Given the description of an element on the screen output the (x, y) to click on. 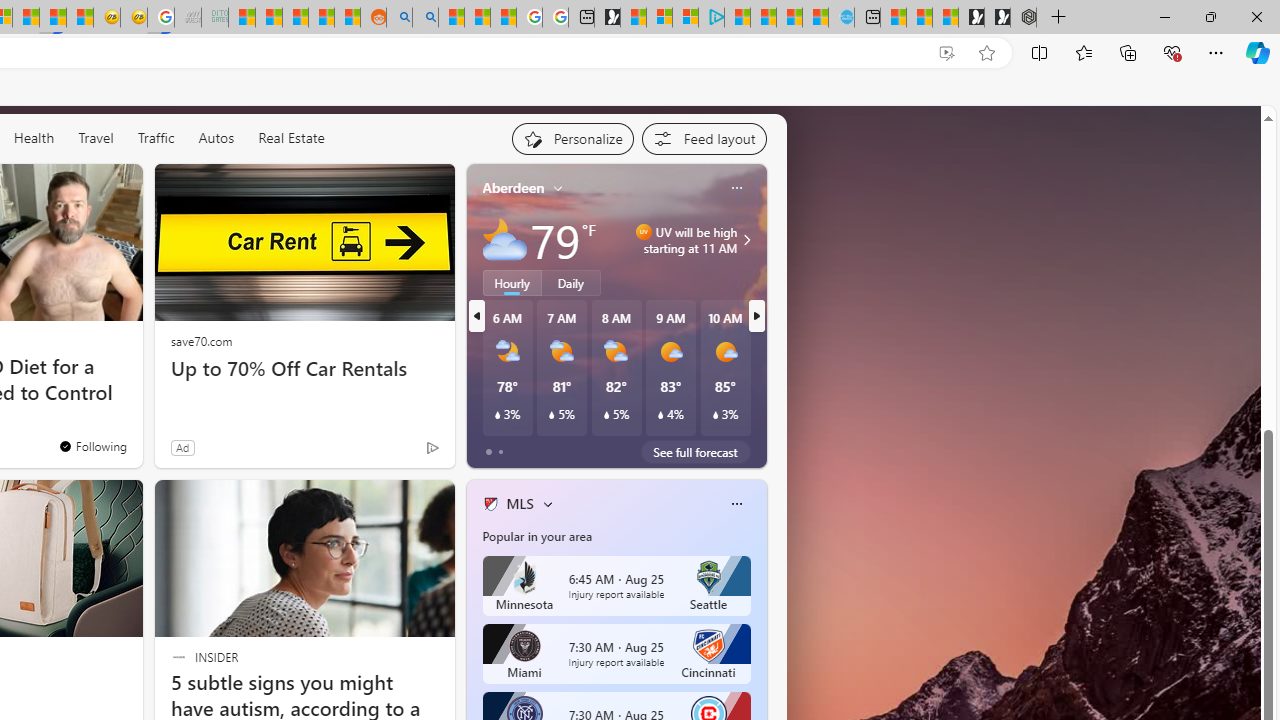
save70.com (201, 340)
Daily (571, 282)
UV will be high starting at 11 AM (744, 240)
Class: weather-arrow-glyph (746, 240)
Utah sues federal government - Search (425, 17)
Real Estate (291, 137)
Autos (215, 137)
You're following Newsweek (92, 445)
previous (476, 315)
